Given the description of an element on the screen output the (x, y) to click on. 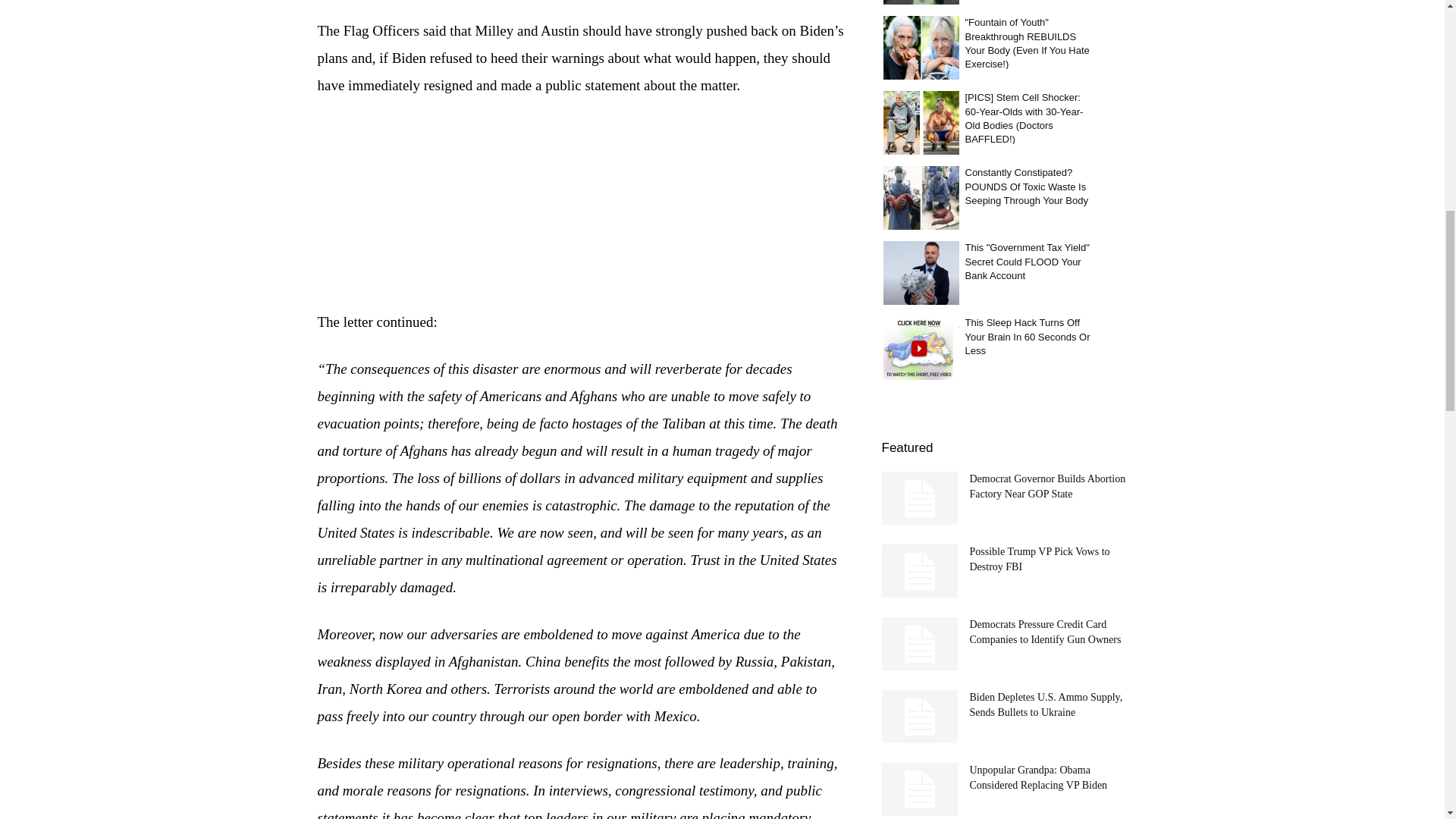
Democrat Governor Builds Abortion Factory Near GOP State (1047, 486)
This Sleep Hack Turns Off Your Brain In 60 Seconds Or Less (920, 347)
Democrat Governor Builds Abortion Factory Near GOP State (918, 497)
This  (920, 271)
